Given the description of an element on the screen output the (x, y) to click on. 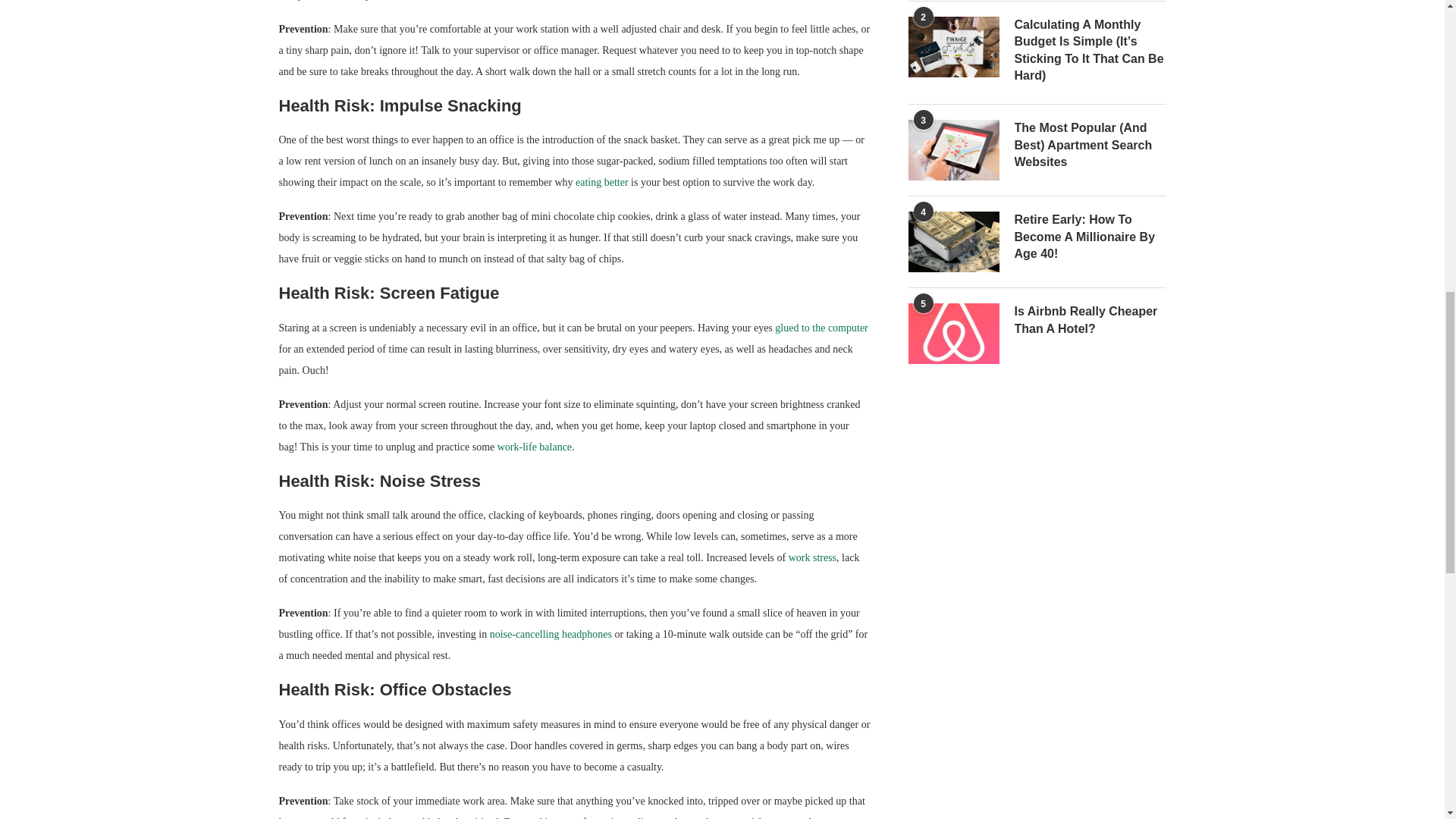
noise-cancelling headphones (550, 633)
glued to the computer (820, 327)
eating better (601, 182)
work-life balance (534, 446)
work stress (812, 557)
